Given the description of an element on the screen output the (x, y) to click on. 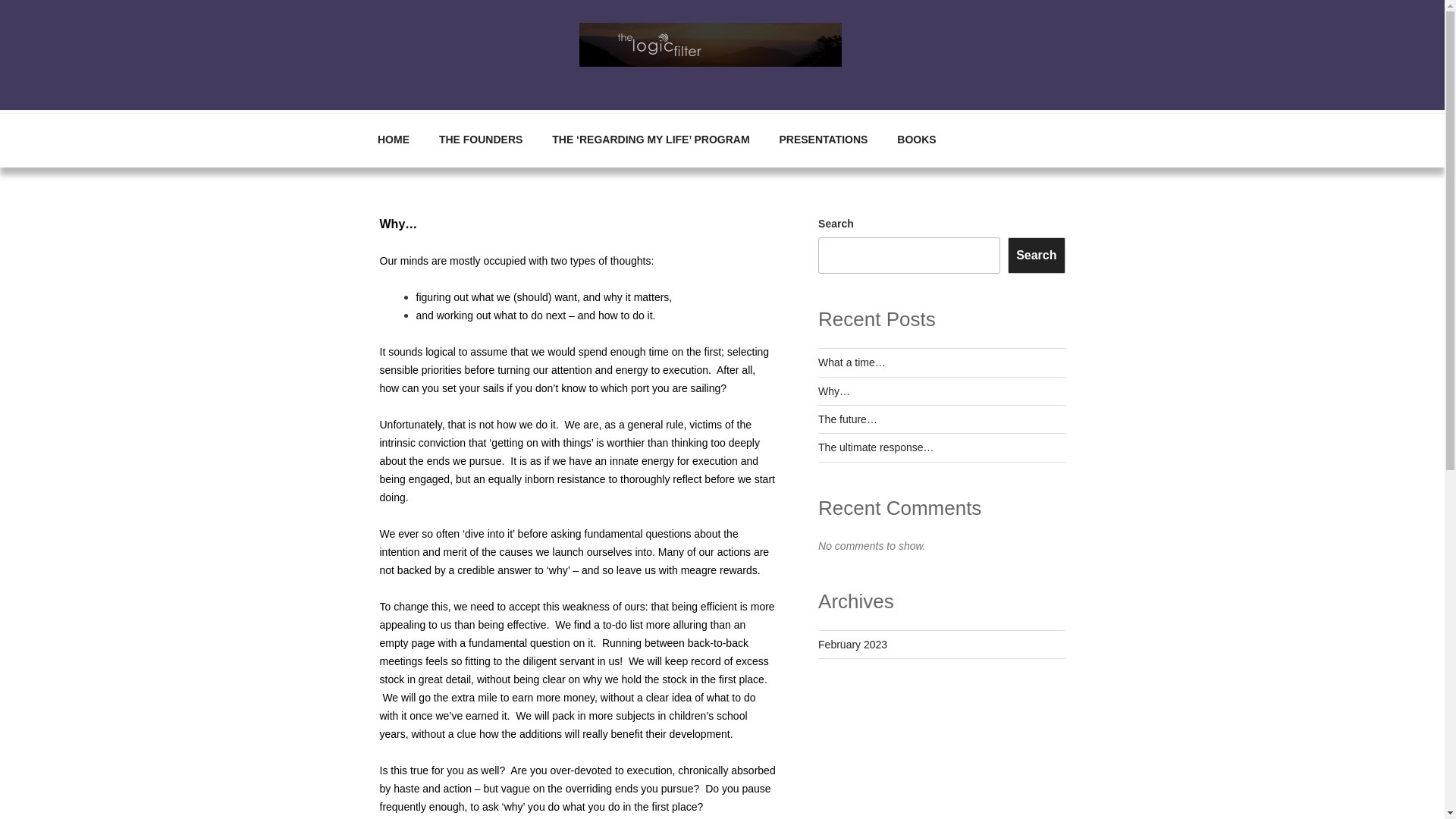
Search (1035, 255)
HOME (393, 139)
February 2023 (852, 644)
BOOKS (916, 139)
THE LOGIC FILTER (178, 90)
PRESENTATIONS (822, 139)
THE FOUNDERS (480, 139)
